Given the description of an element on the screen output the (x, y) to click on. 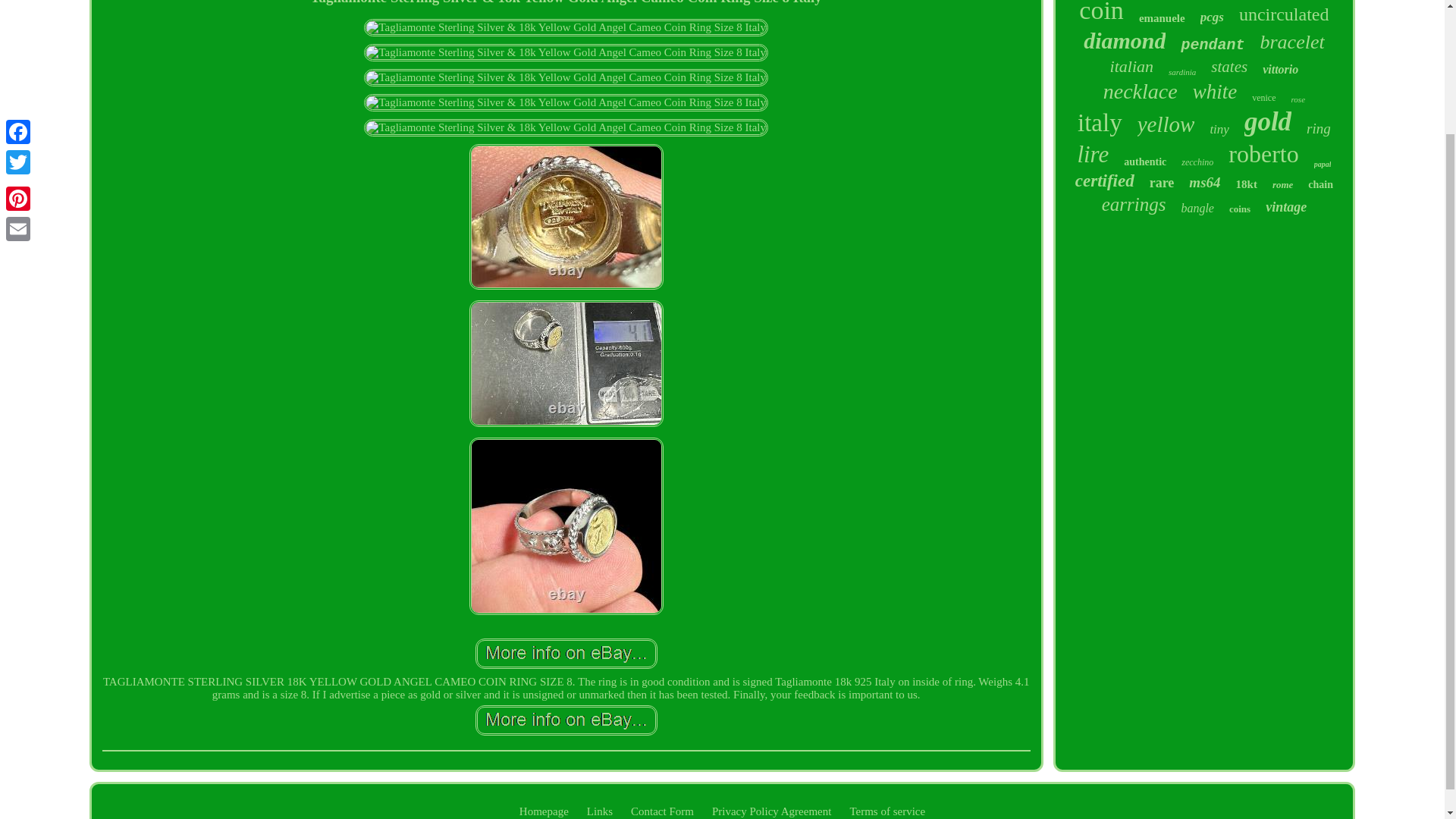
pendant (1212, 45)
certified (1104, 180)
white (1214, 92)
authentic (1145, 162)
rose (1297, 99)
ms64 (1204, 182)
gold (1267, 122)
Email (17, 74)
lire (1092, 154)
sardinia (1182, 71)
